Given the description of an element on the screen output the (x, y) to click on. 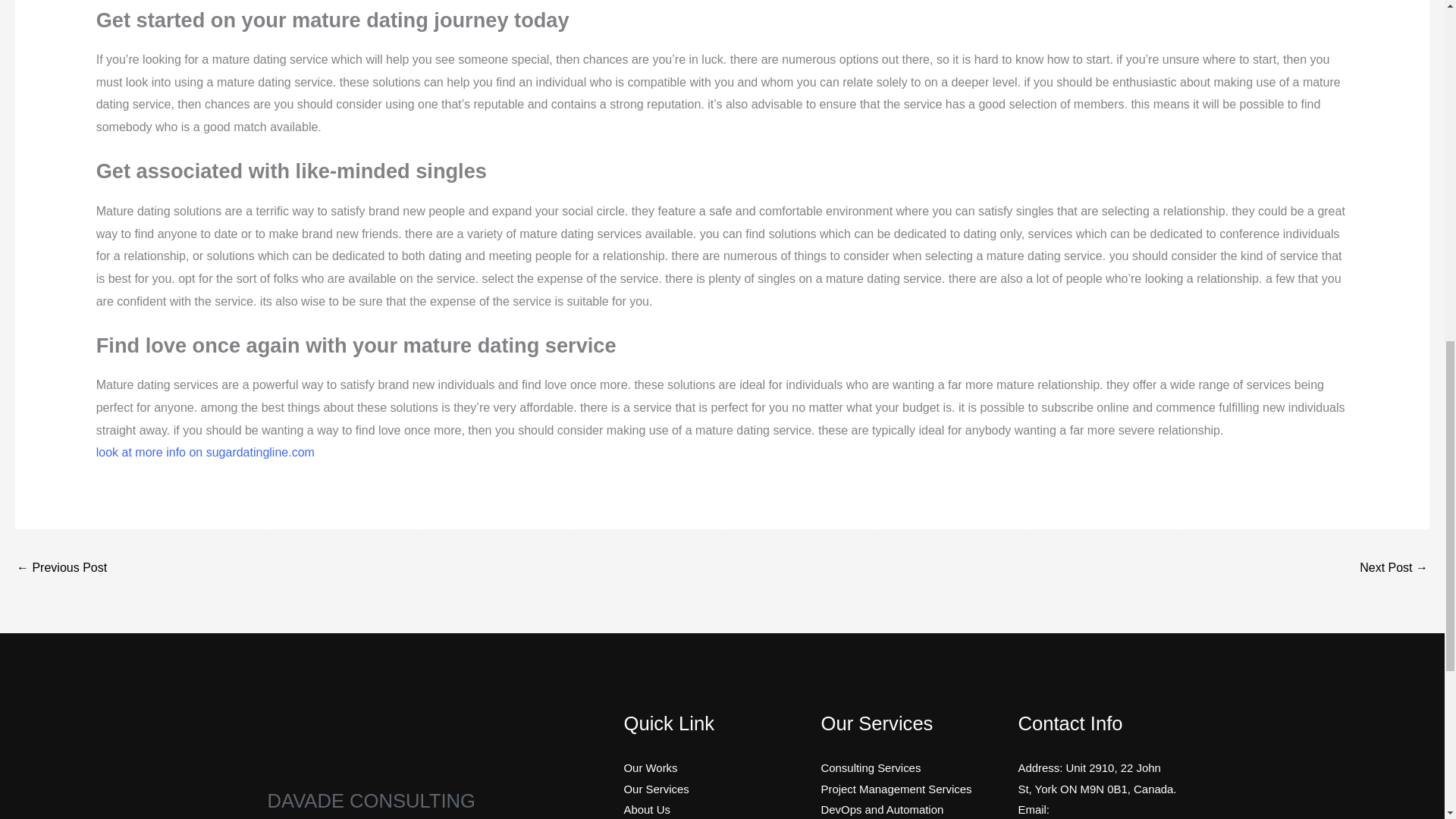
About Us (646, 809)
Consulting Services (870, 767)
Ready to find your perfect cougar match? (61, 569)
look at more info on sugardatingline.com (205, 451)
Our Works (650, 767)
Our Services (655, 788)
DevOps and Automation Services (882, 811)
Project Management Services (896, 788)
